Given the description of an element on the screen output the (x, y) to click on. 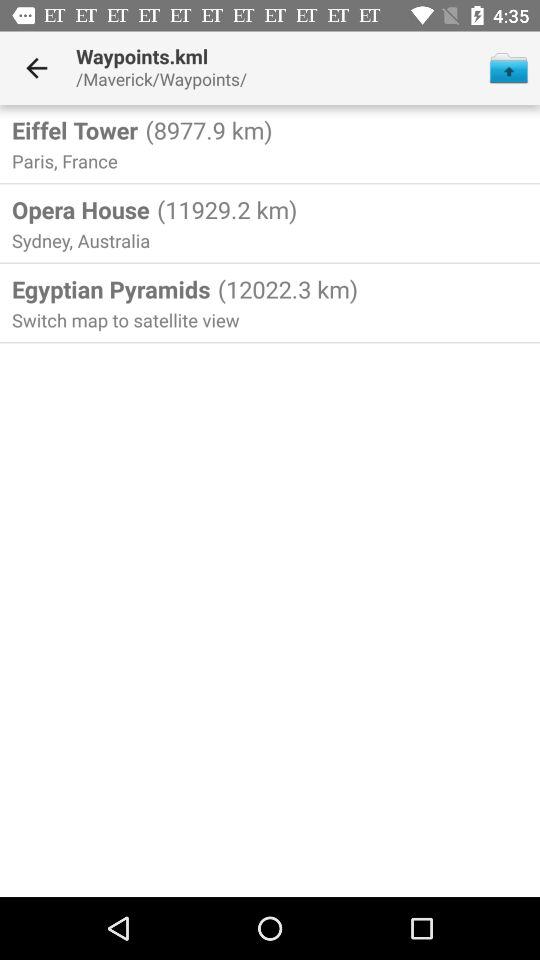
flip to the eiffel tower icon (75, 130)
